Given the description of an element on the screen output the (x, y) to click on. 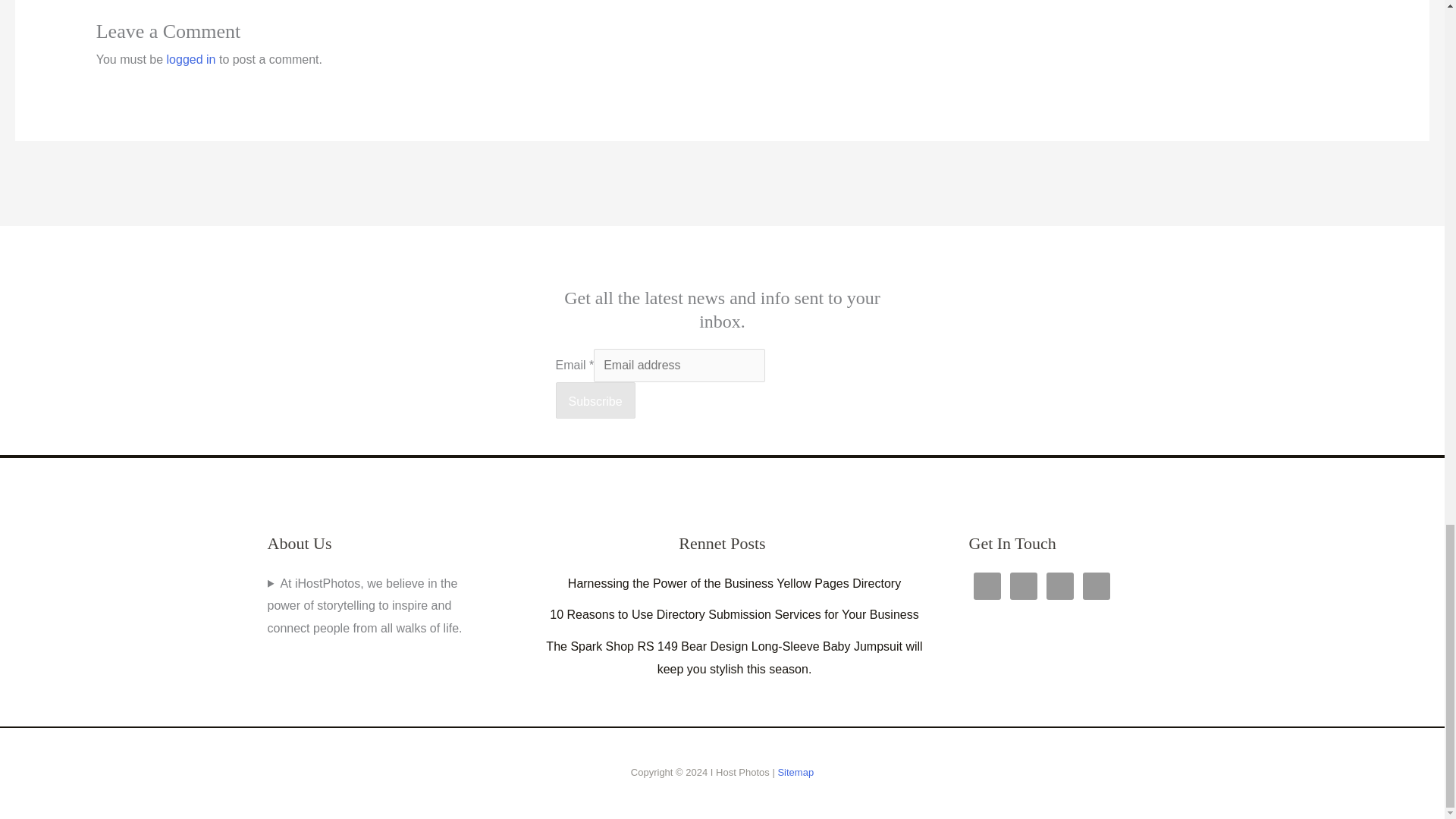
logged in (191, 59)
Harnessing the Power of the Business Yellow Pages Directory (734, 583)
Subscribe (594, 400)
